Given the description of an element on the screen output the (x, y) to click on. 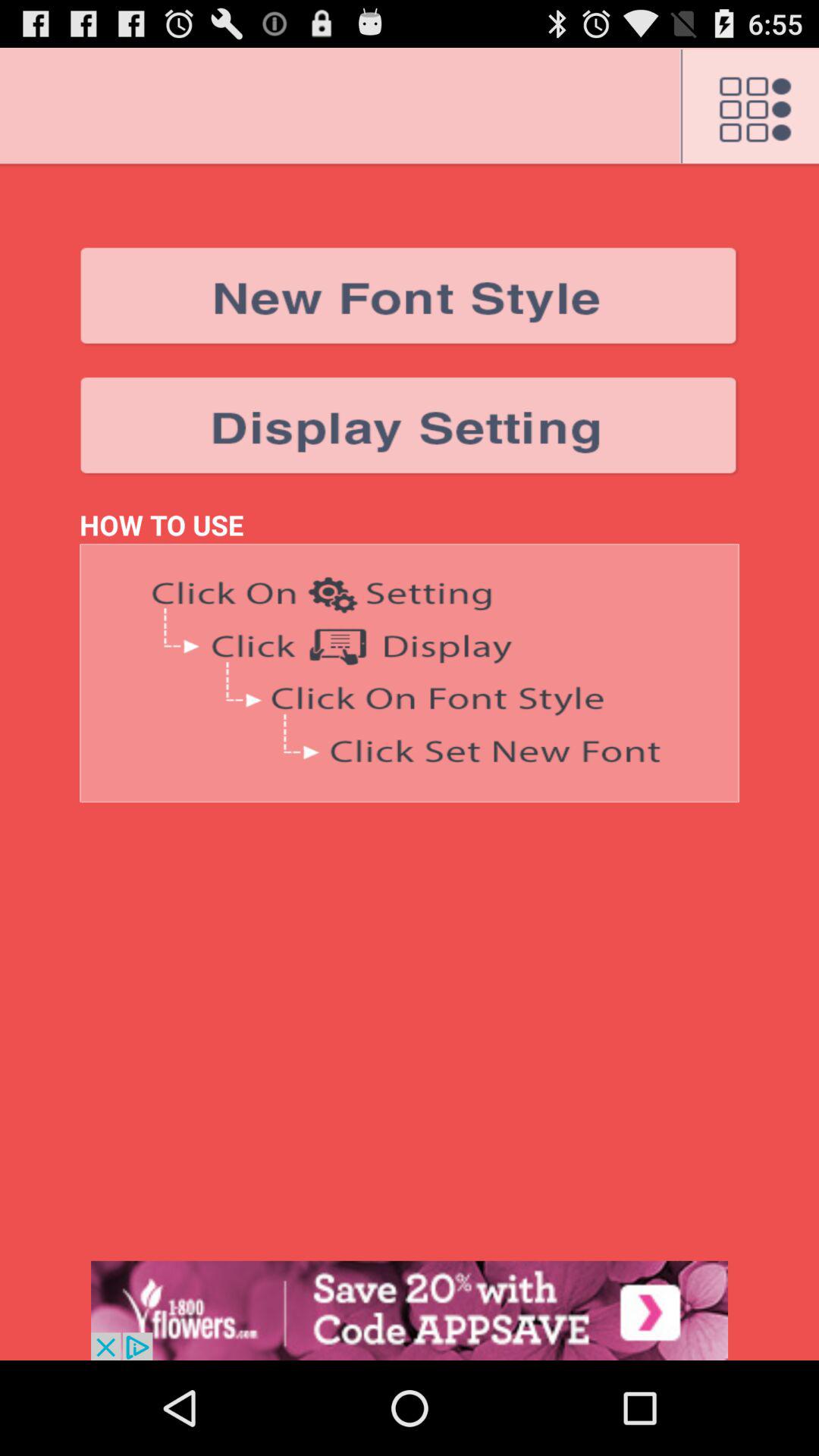
display setting (409, 426)
